Given the description of an element on the screen output the (x, y) to click on. 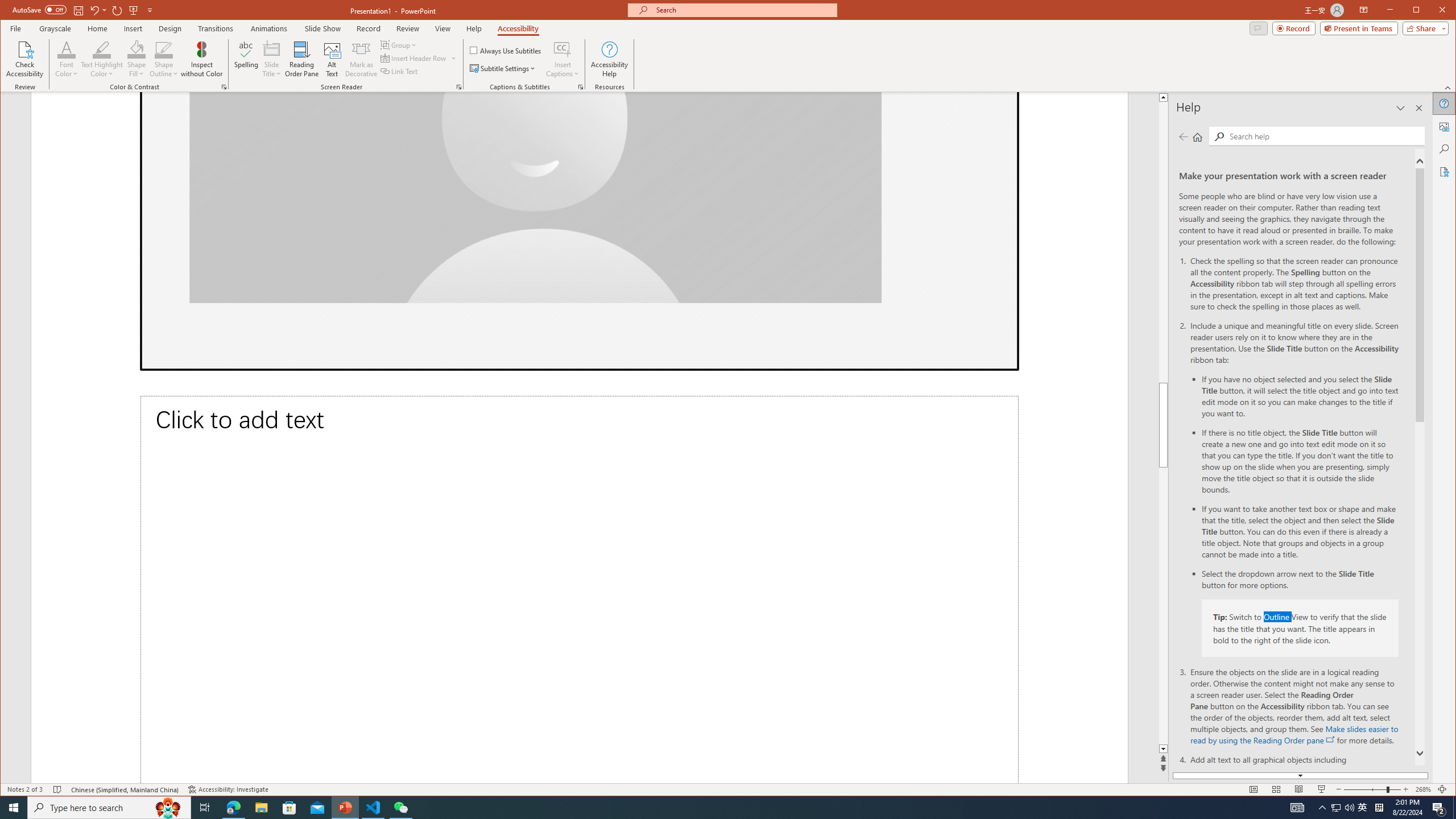
Accessibility Help (608, 59)
